Given the description of an element on the screen output the (x, y) to click on. 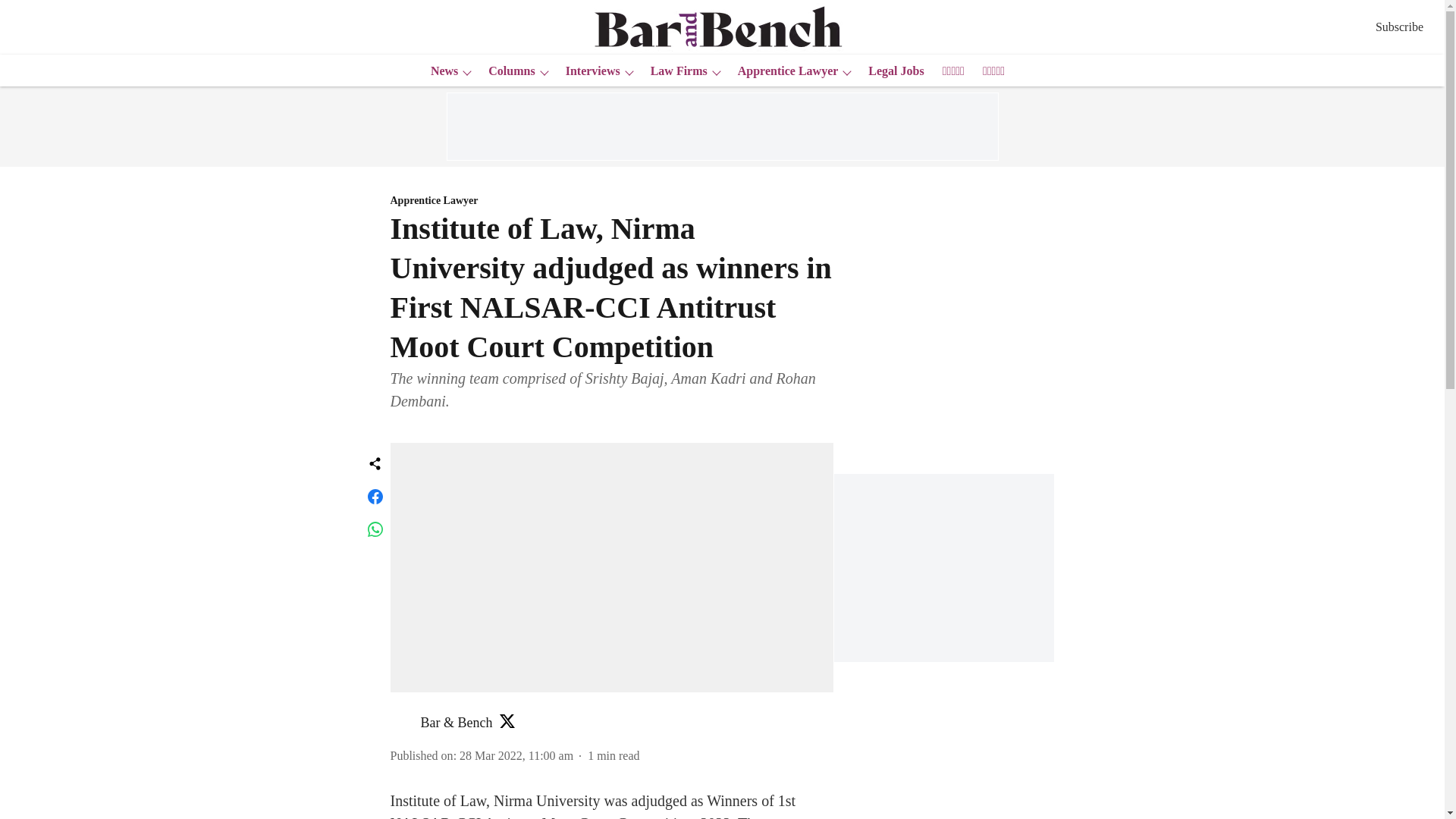
News (440, 71)
Interviews (588, 71)
Columns (506, 71)
Apprentice Lawyer (783, 71)
2022-03-28 11:00 (516, 755)
Law Firms (674, 71)
Legal Jobs (891, 71)
Apprentice Lawyer (611, 201)
